Given the description of an element on the screen output the (x, y) to click on. 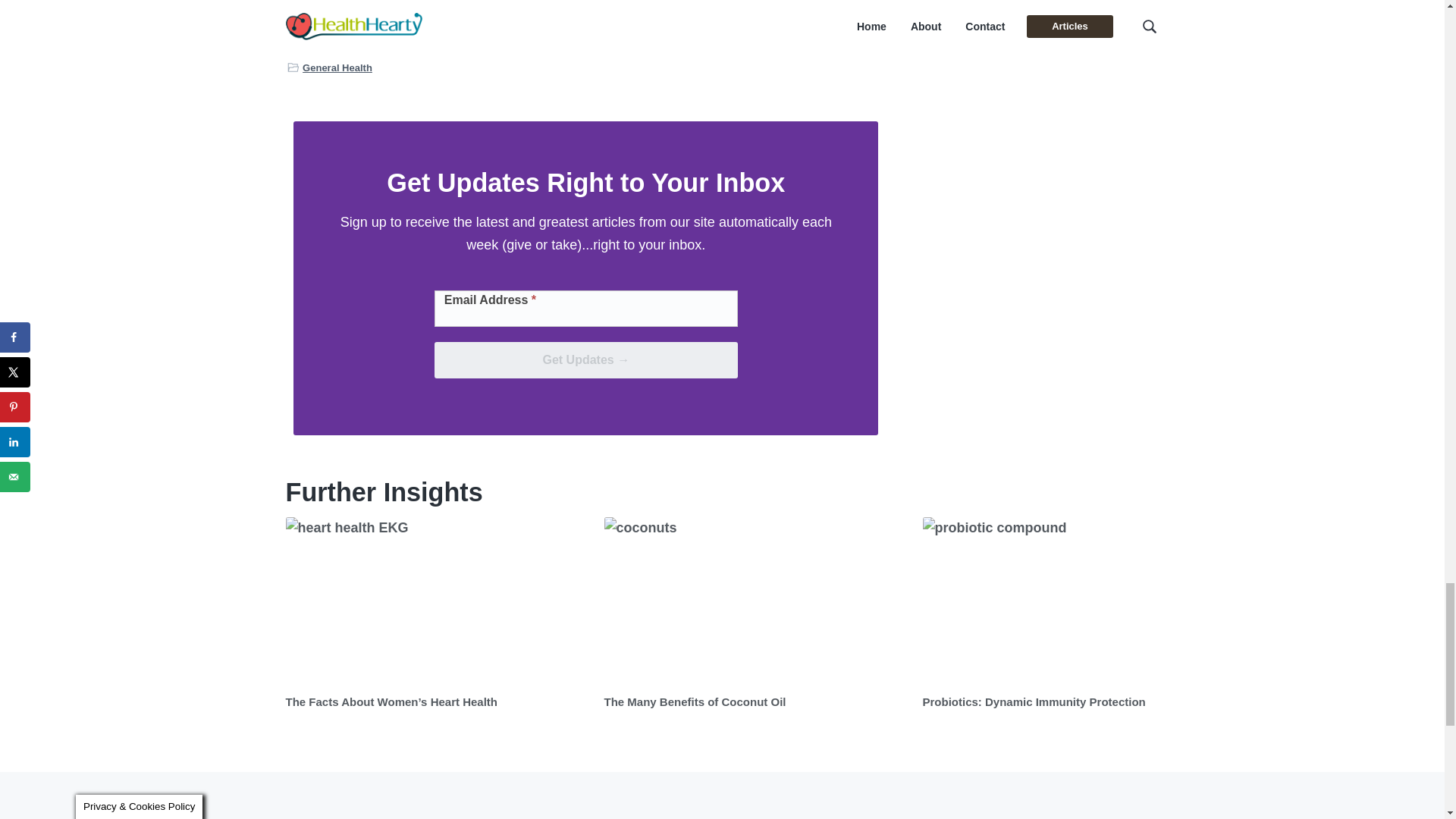
Permanent Link (1032, 701)
Probiotics: Dynamic Immunity Protection (1032, 701)
General Health (337, 67)
The Many Benefits of Coconut Oil (695, 701)
Permanent Link (1073, 600)
Permanent Link (695, 701)
Permanent Link (755, 600)
Permanent Link (436, 600)
Permanent Link (391, 701)
